Given the description of an element on the screen output the (x, y) to click on. 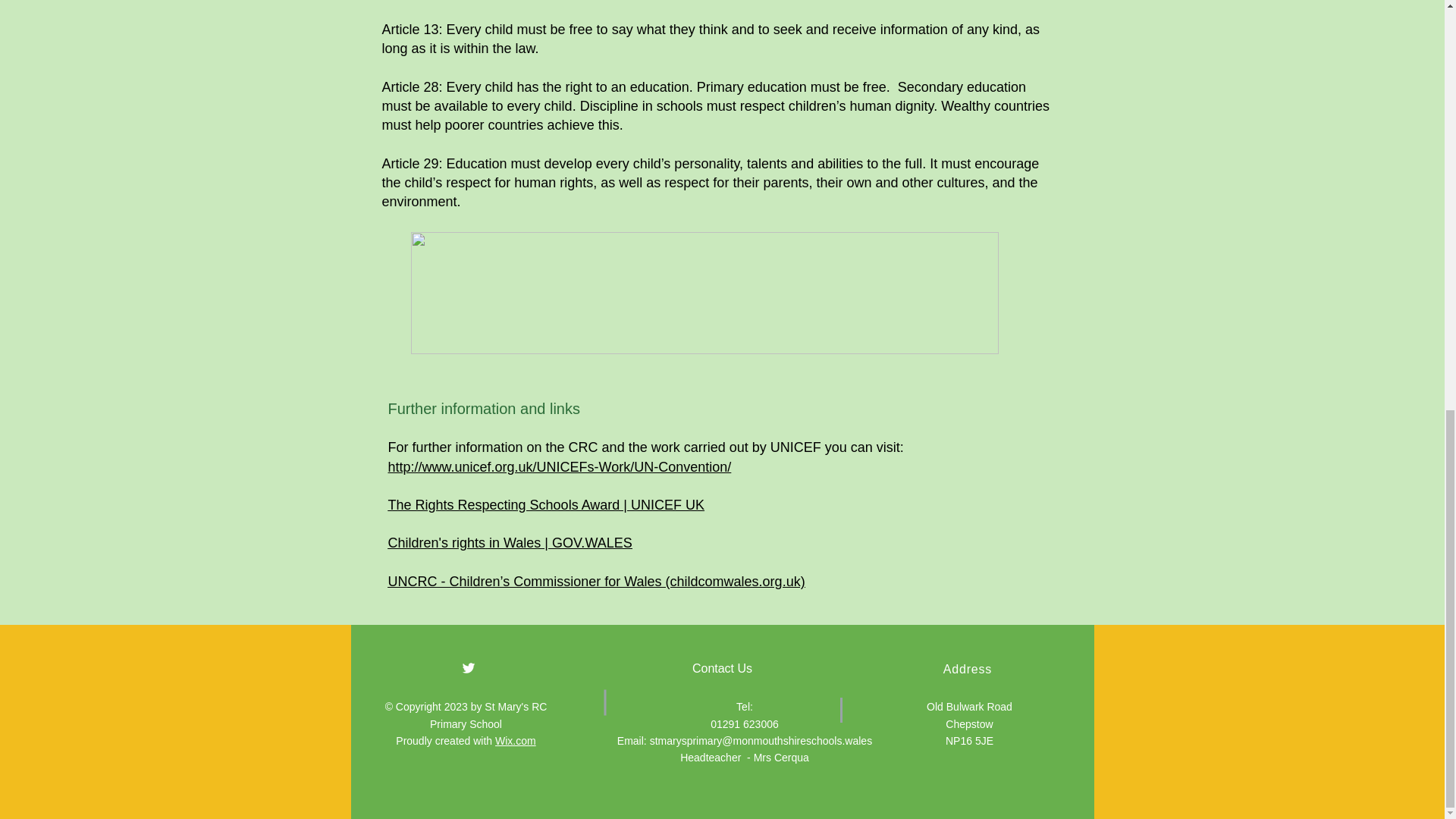
UNCRC.webp (704, 292)
